Given the description of an element on the screen output the (x, y) to click on. 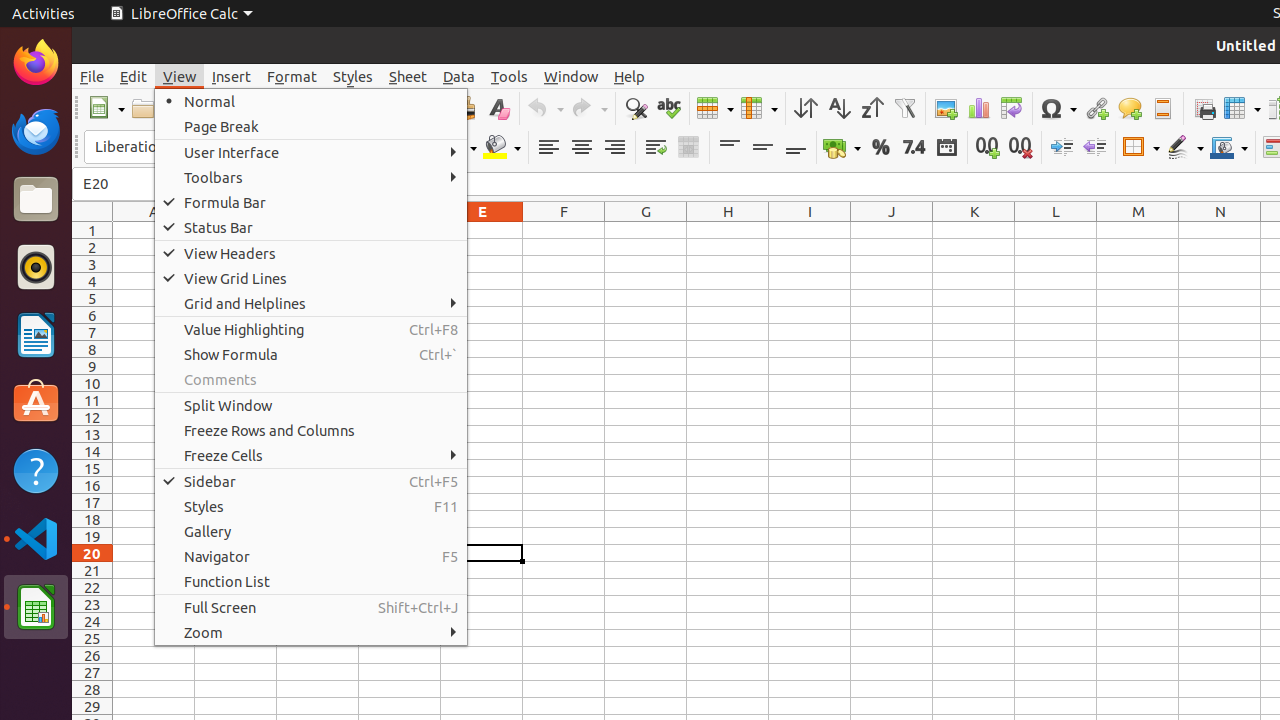
Row Element type: push-button (715, 108)
Data Element type: menu (459, 76)
Add Decimal Place Element type: push-button (987, 147)
D1 Element type: table-cell (400, 230)
Insert Element type: menu (231, 76)
